Given the description of an element on the screen output the (x, y) to click on. 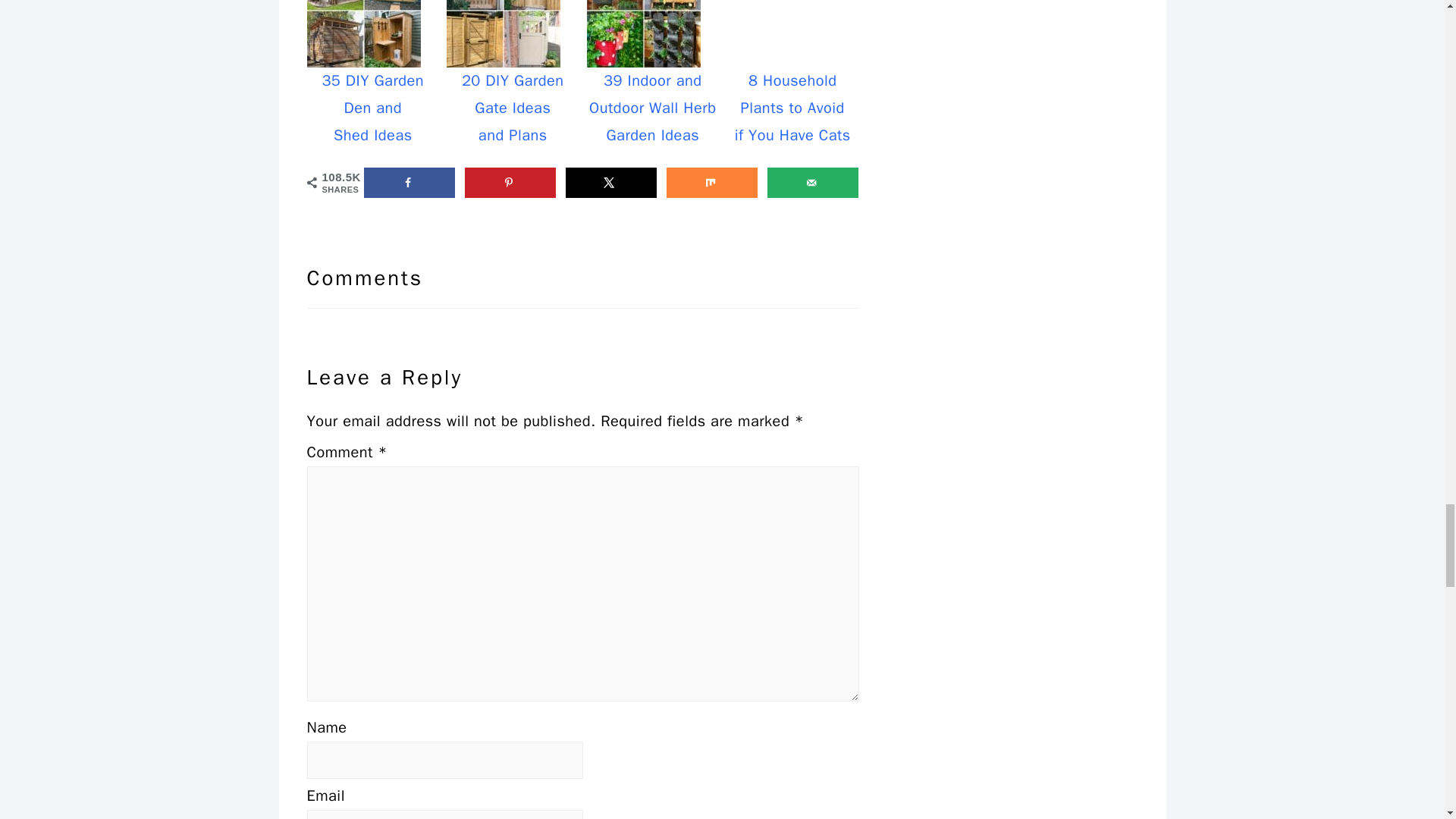
Share on Mix (711, 182)
Send over email (813, 182)
Share on X (611, 182)
Share on Facebook (409, 182)
Save to Pinterest (510, 182)
